Given the description of an element on the screen output the (x, y) to click on. 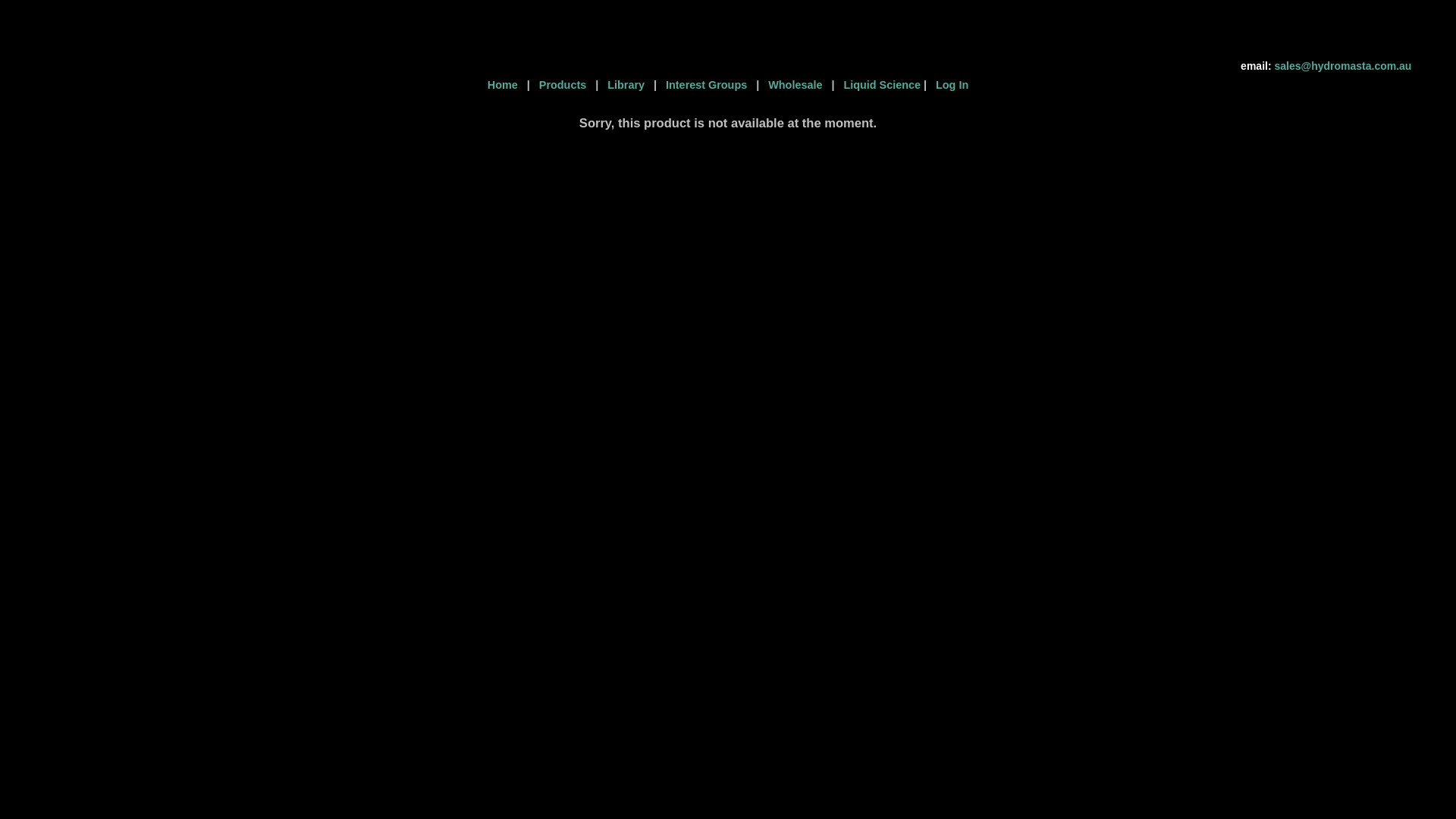
  Wholesale   Element type: text (795, 84)
  Liquid Science Element type: text (878, 84)
  Interest Groups   Element type: text (706, 84)
Home   Element type: text (505, 84)
  Log In Element type: text (948, 84)
  Library   Element type: text (625, 84)
sales@hydromasta.com.au Element type: text (1341, 65)
  Products   Element type: text (564, 84)
